Given the description of an element on the screen output the (x, y) to click on. 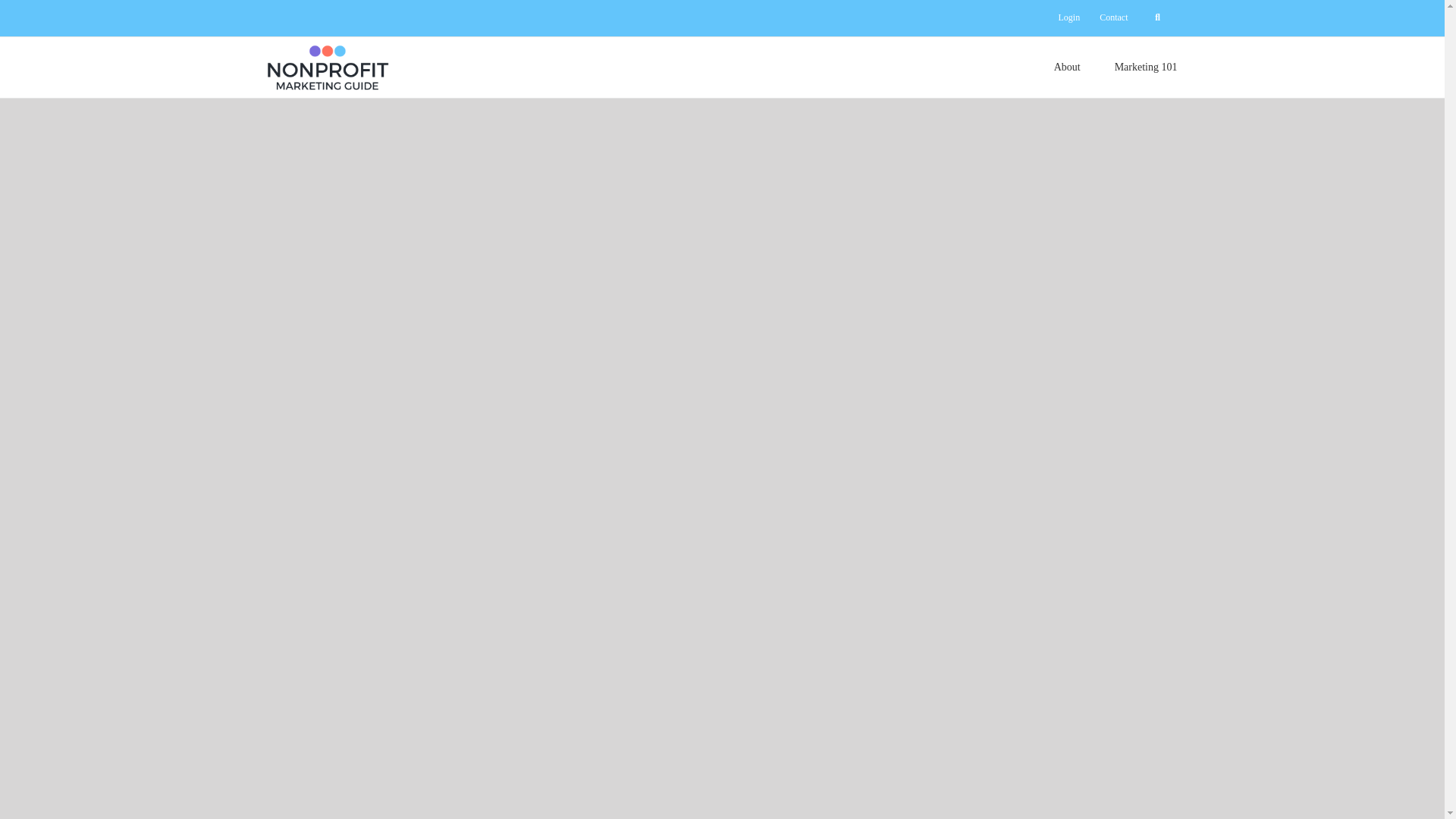
Marketing 101 (1146, 66)
Login (1068, 18)
Contact (1113, 18)
